Given the description of an element on the screen output the (x, y) to click on. 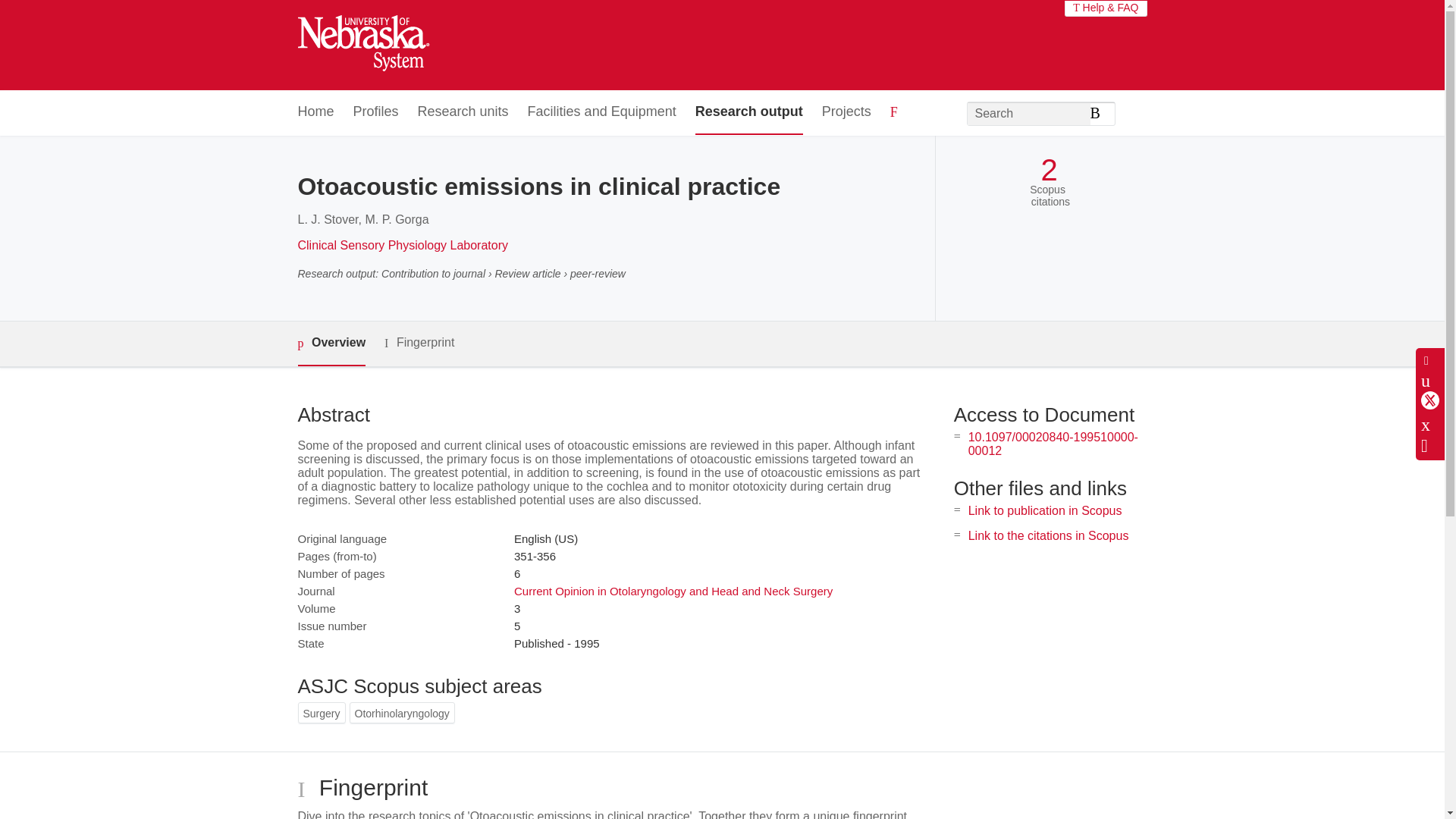
Research Nebraska Home (363, 45)
Clinical Sensory Physiology Laboratory (401, 245)
Overview (331, 343)
Projects (846, 112)
Link to the citations in Scopus (1048, 535)
Profiles (375, 112)
Research output (749, 112)
Link to publication in Scopus (1045, 510)
Research units (462, 112)
